Given the description of an element on the screen output the (x, y) to click on. 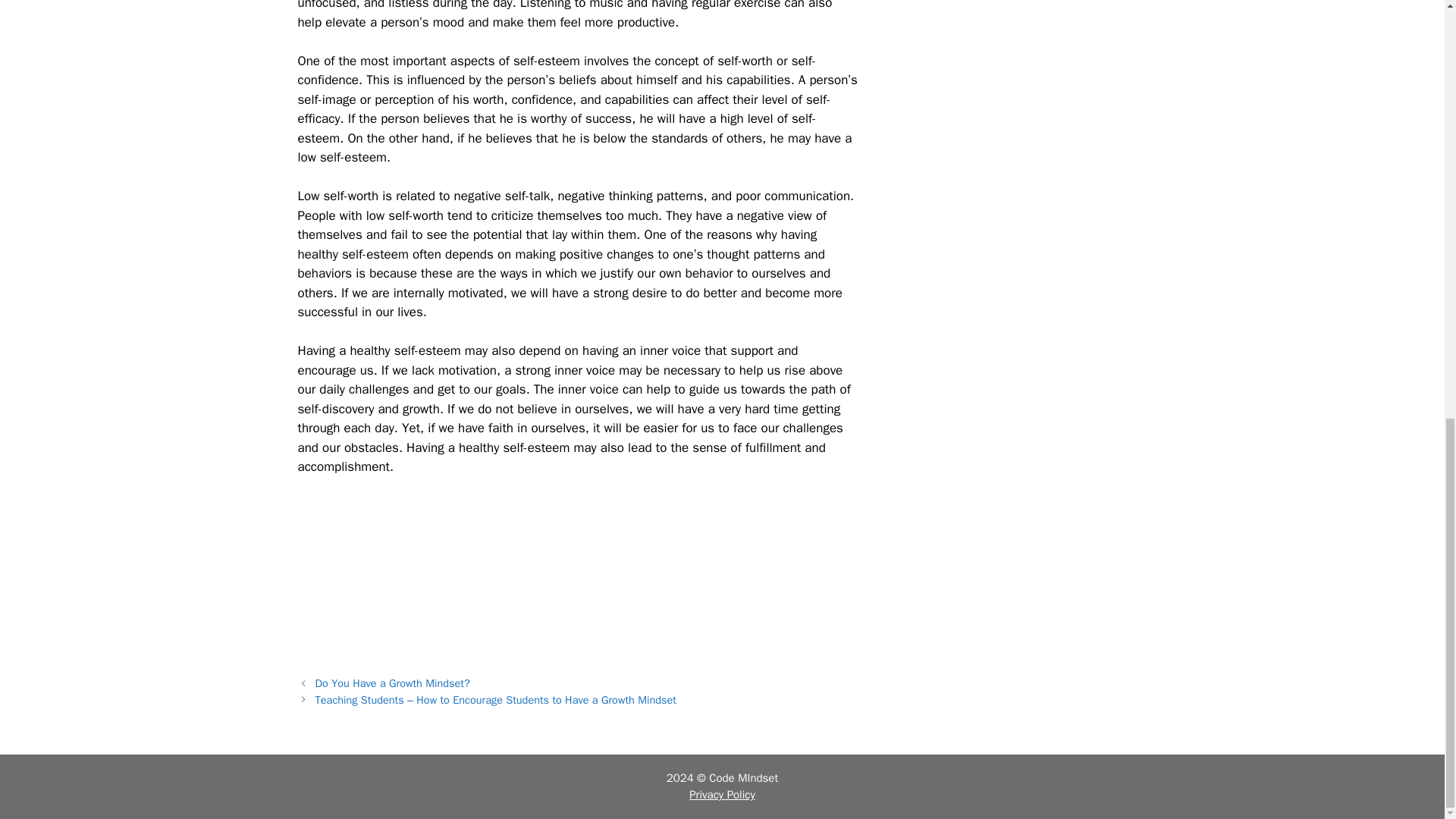
Do You Have a Growth Mindset? (392, 683)
Privacy Policy (721, 794)
